Given the description of an element on the screen output the (x, y) to click on. 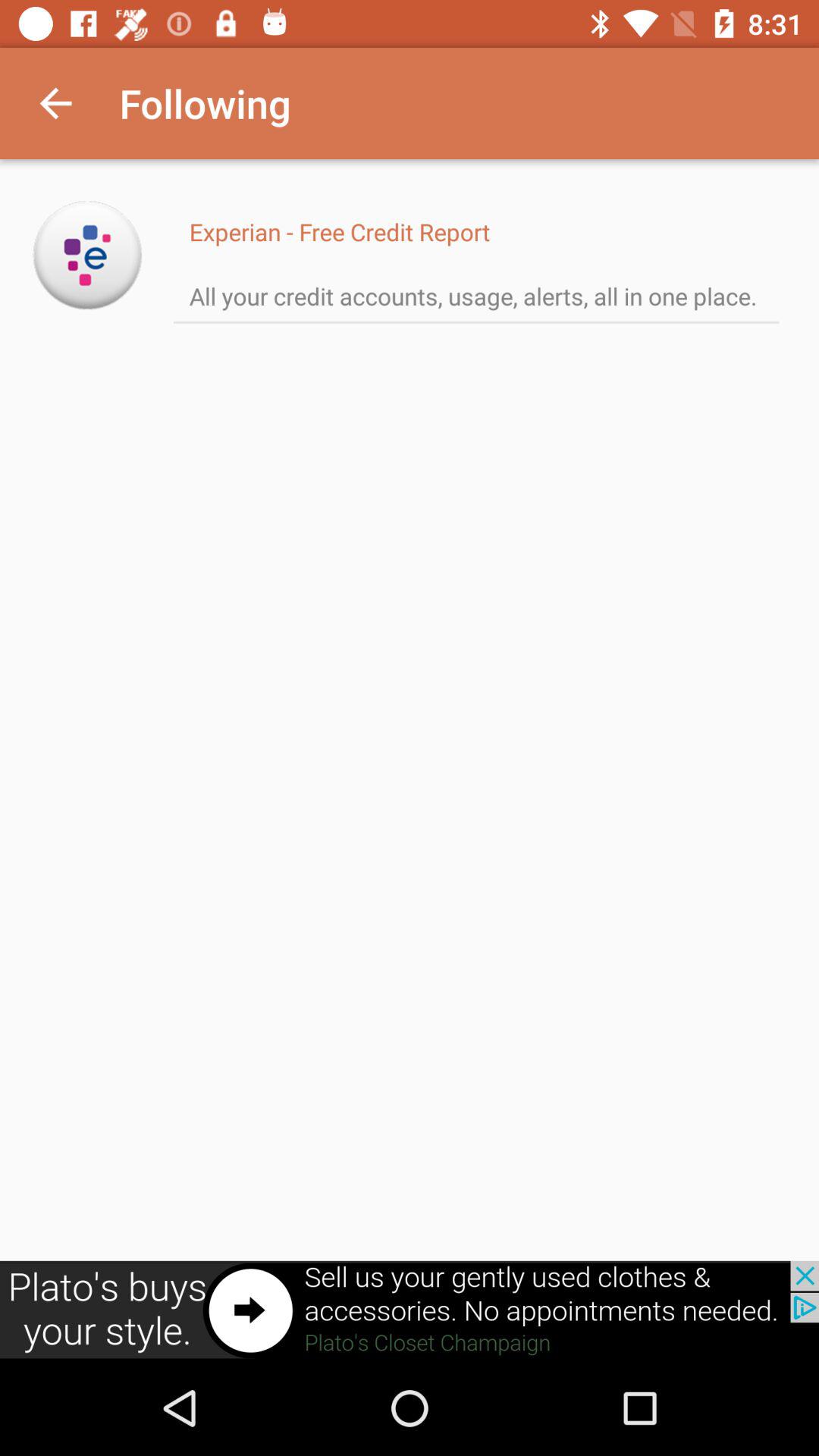
opens information about displayed company (87, 255)
